Given the description of an element on the screen output the (x, y) to click on. 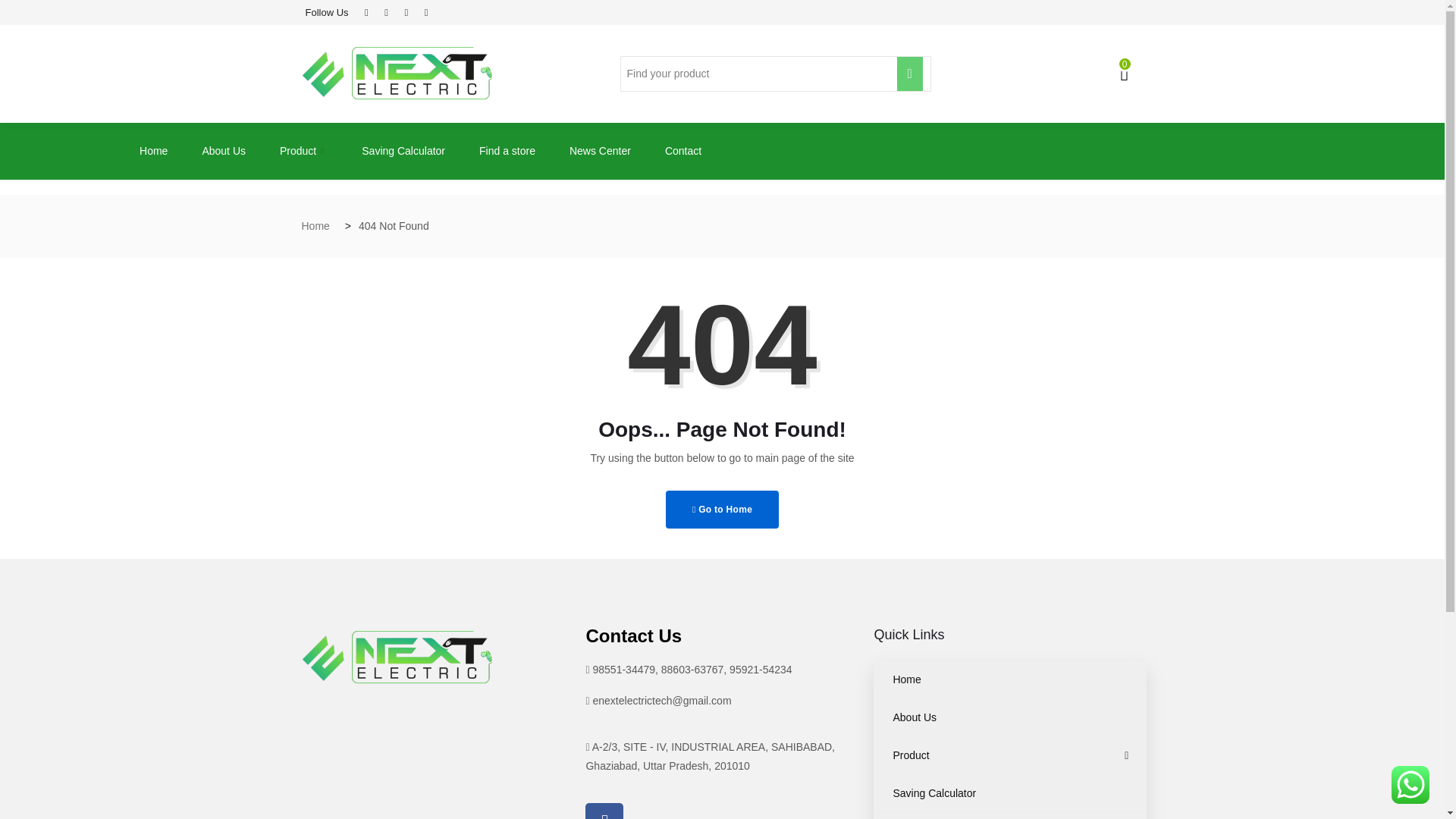
Home (154, 150)
Saving Calculator (405, 150)
Contact (684, 150)
Go to Home (721, 509)
Find a store (509, 150)
Product (305, 150)
Home (1010, 679)
About Us (225, 150)
Home (315, 225)
About Us (1010, 717)
